Given the description of an element on the screen output the (x, y) to click on. 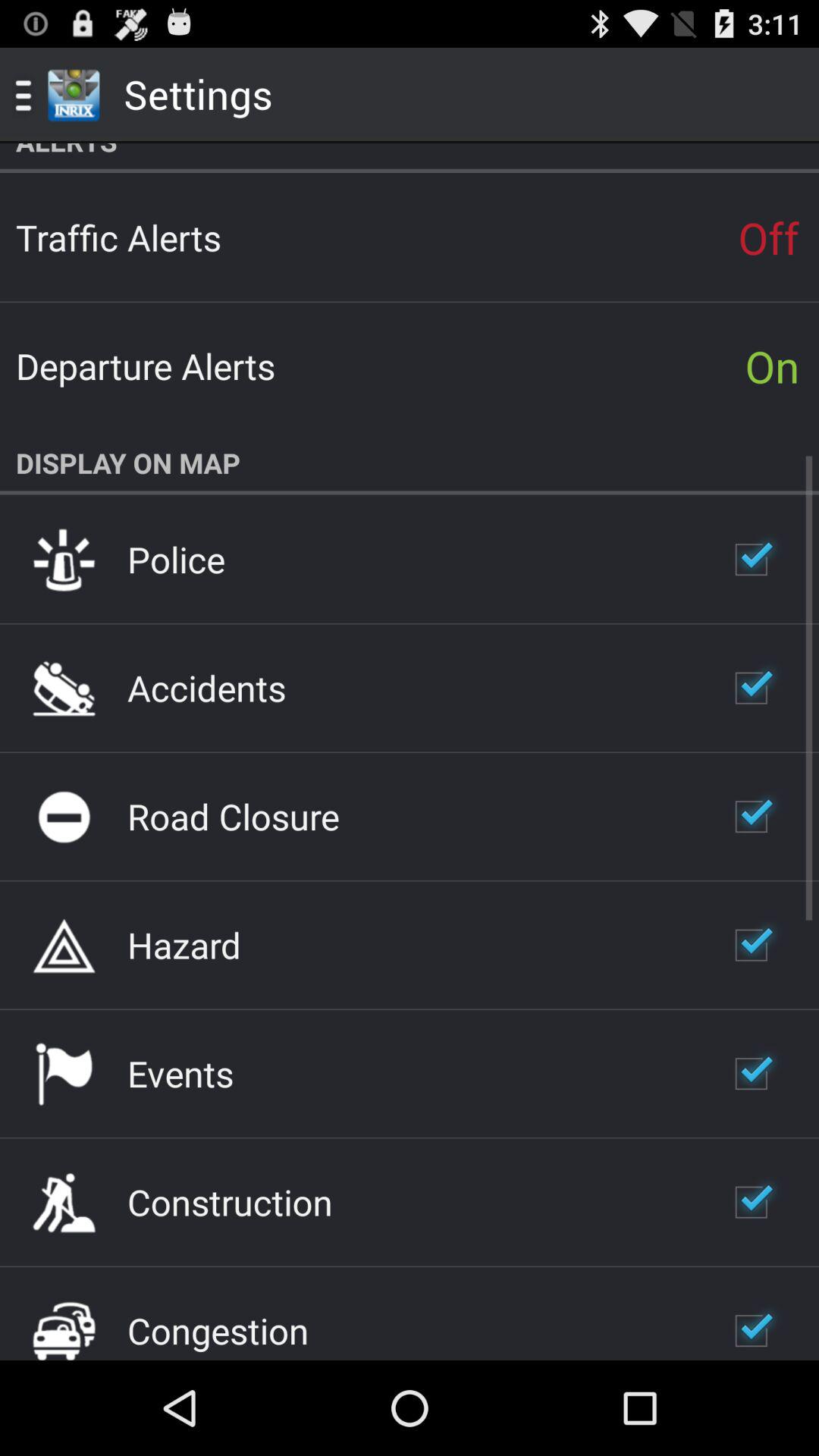
choose app below the traffic alerts icon (145, 365)
